Given the description of an element on the screen output the (x, y) to click on. 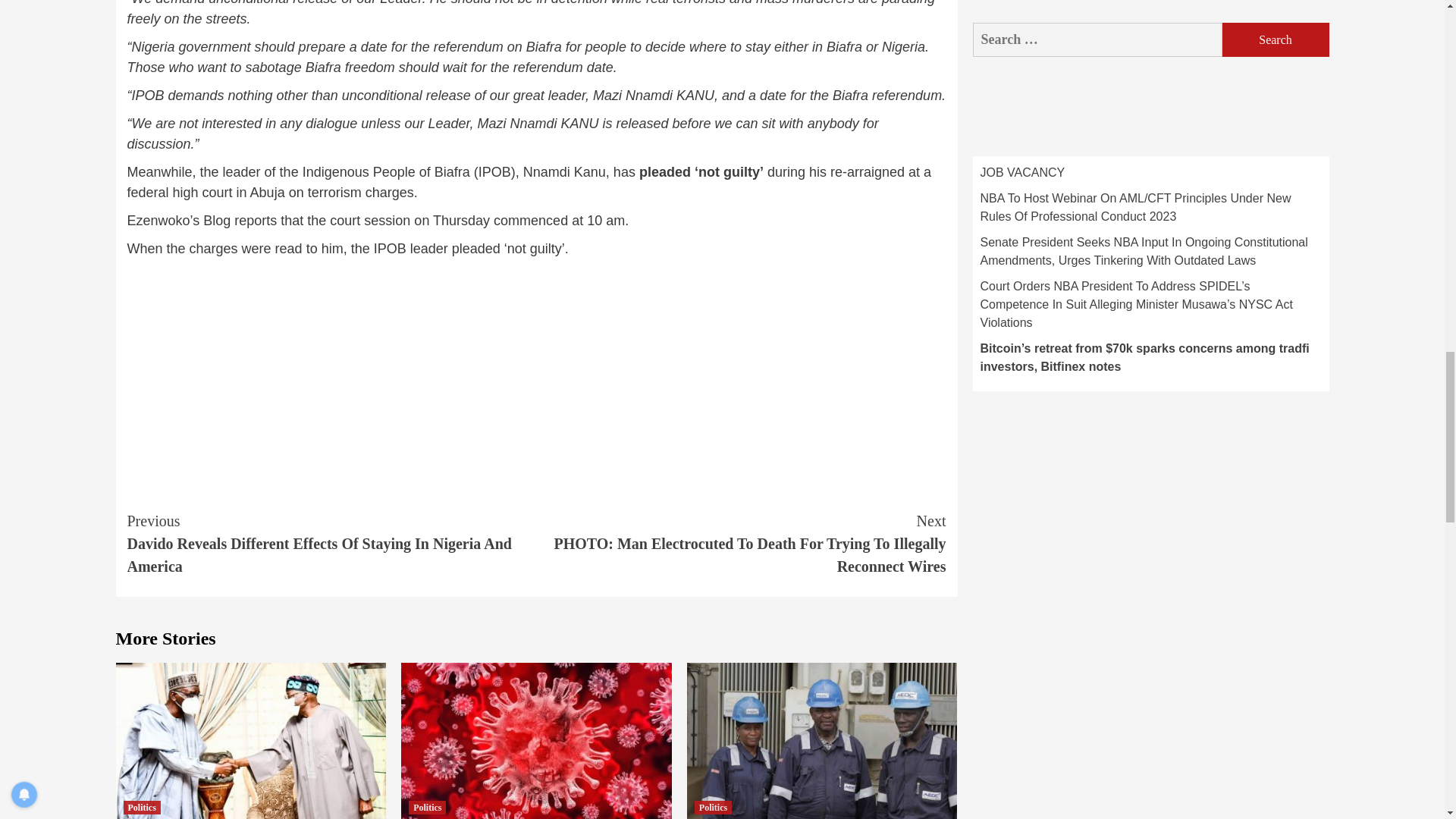
Politics (141, 807)
Politics (713, 807)
Politics (427, 807)
